Given the description of an element on the screen output the (x, y) to click on. 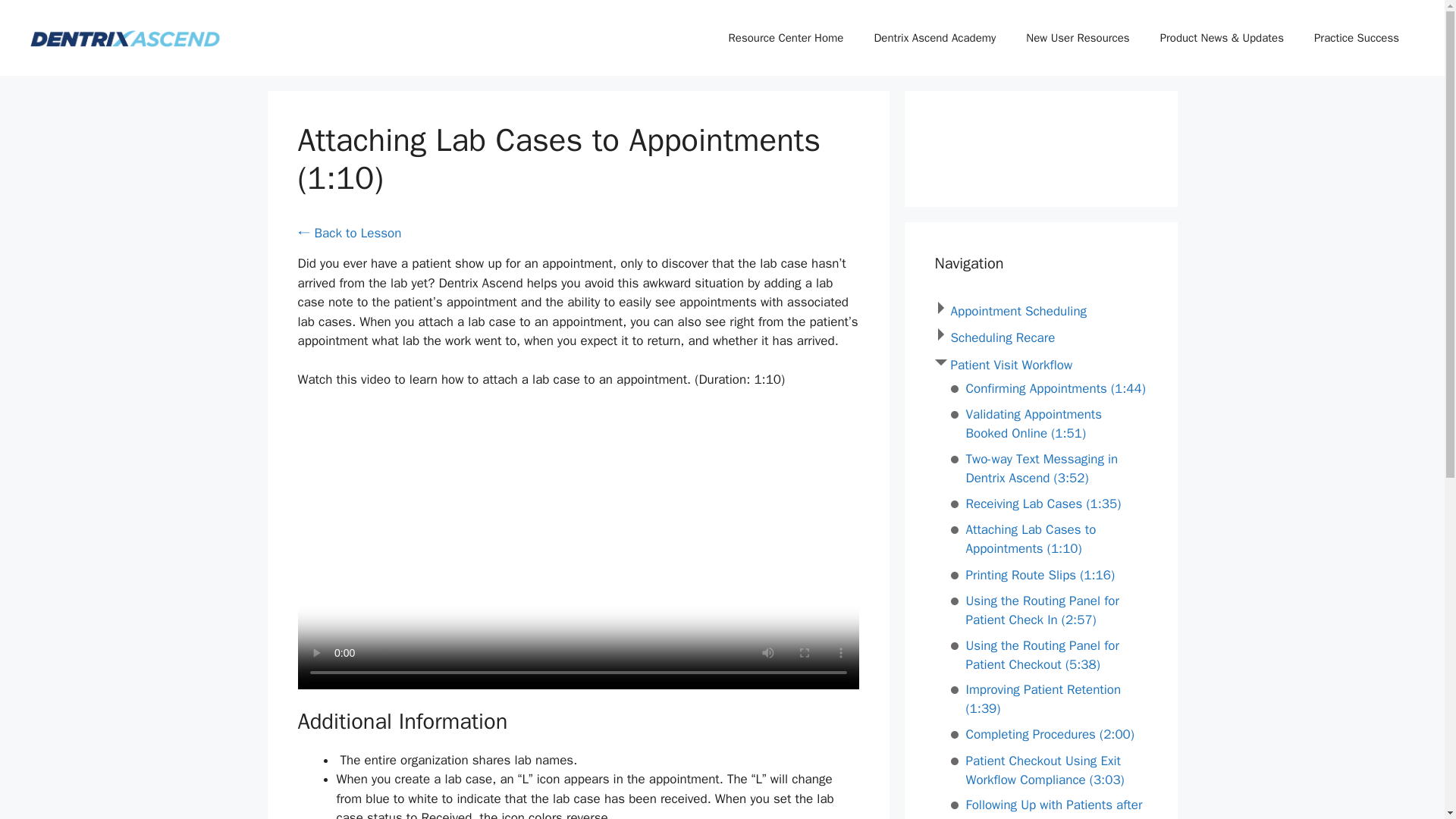
Practice Success (1355, 37)
Resource Center Home (786, 37)
New User Resources (1077, 37)
Dentrix Ascend Academy (934, 37)
Appointment Scheduling (1018, 311)
